Given the description of an element on the screen output the (x, y) to click on. 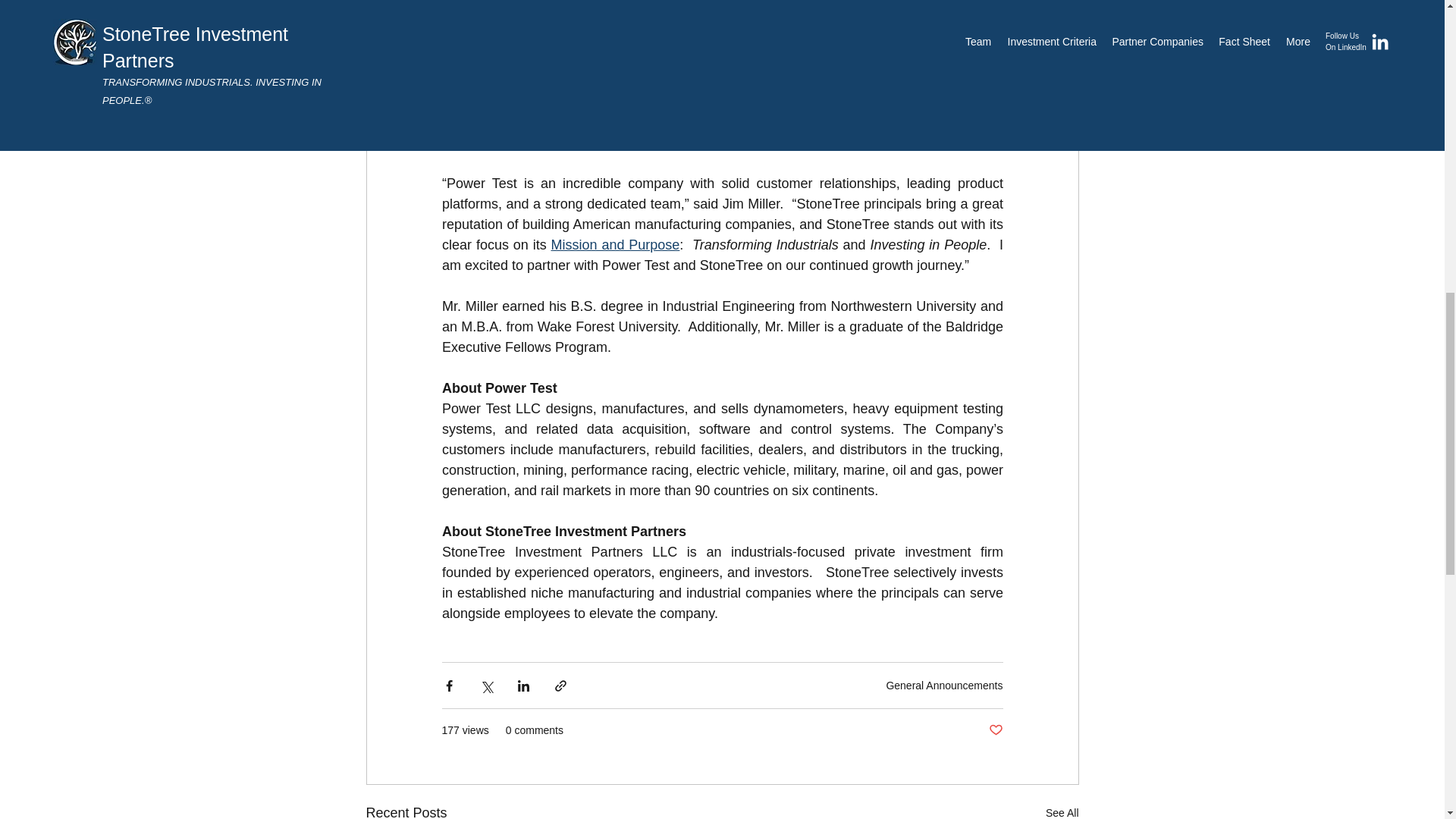
Mission and Purpose (614, 244)
Post not marked as liked (995, 730)
General Announcements (944, 685)
See All (1061, 810)
